Given the description of an element on the screen output the (x, y) to click on. 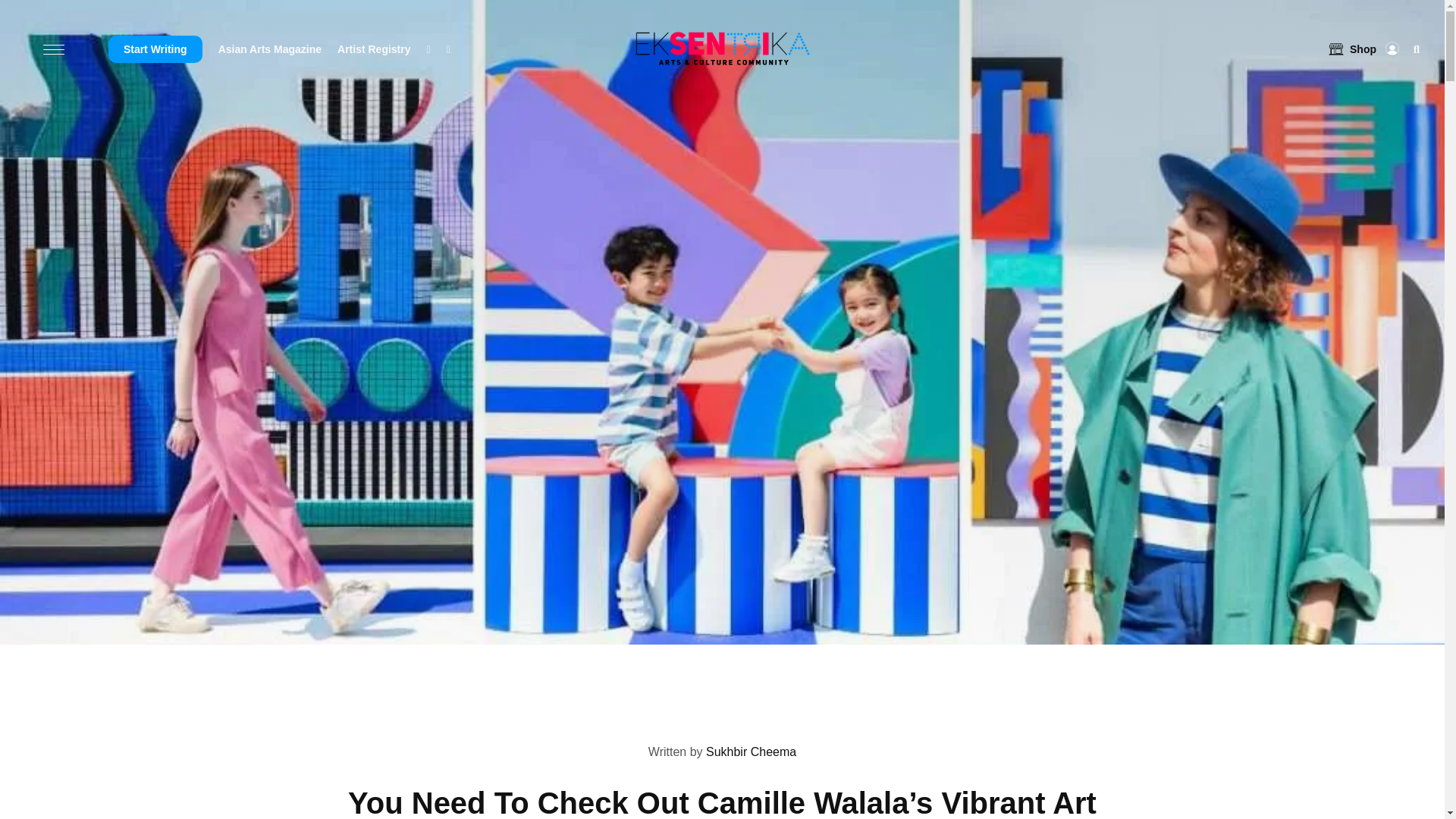
Sukhbir Cheema (722, 708)
